Given the description of an element on the screen output the (x, y) to click on. 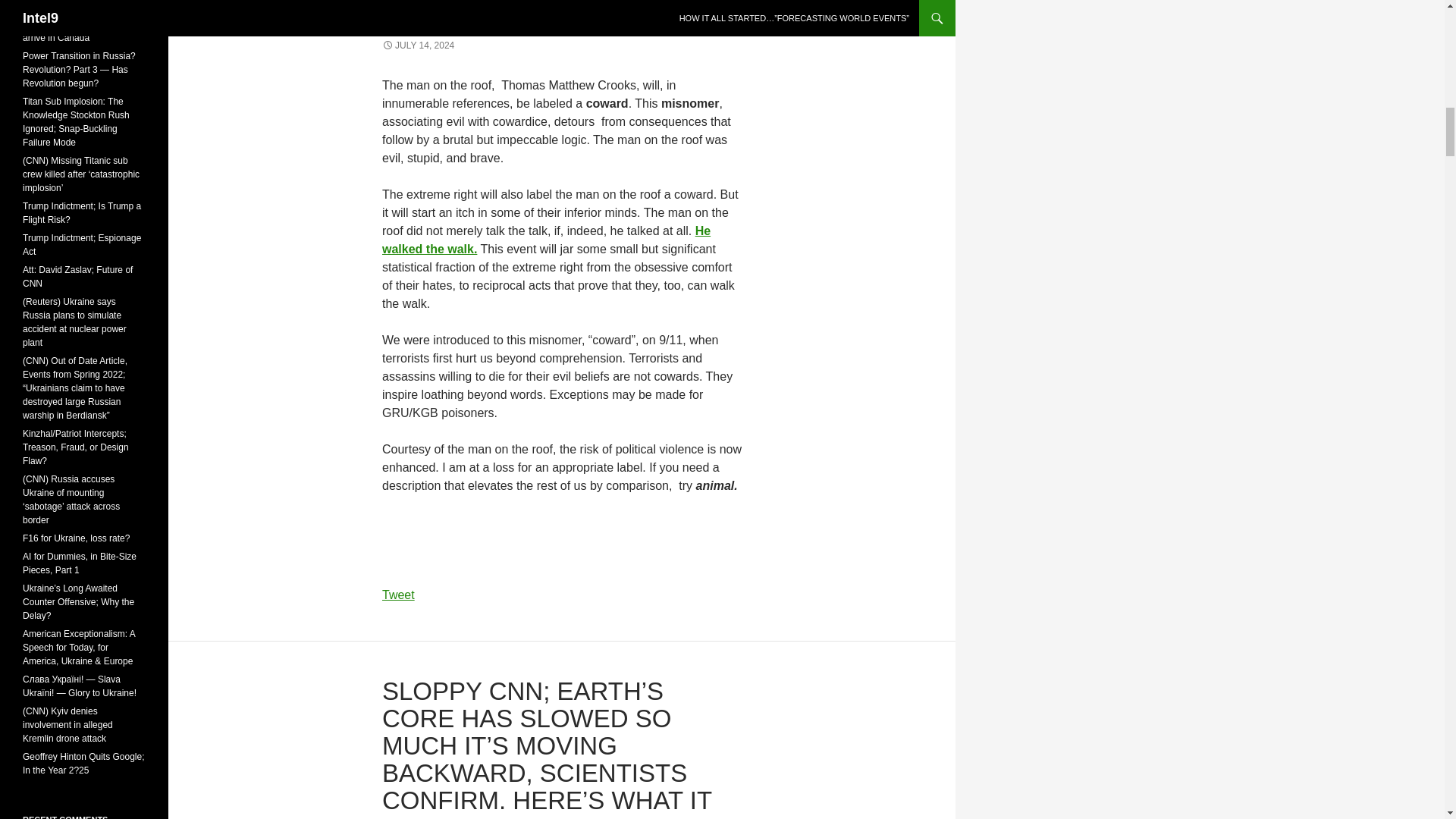
JULY 14, 2024 (417, 45)
Tweet (397, 594)
He walked the walk. (545, 239)
